Given the description of an element on the screen output the (x, y) to click on. 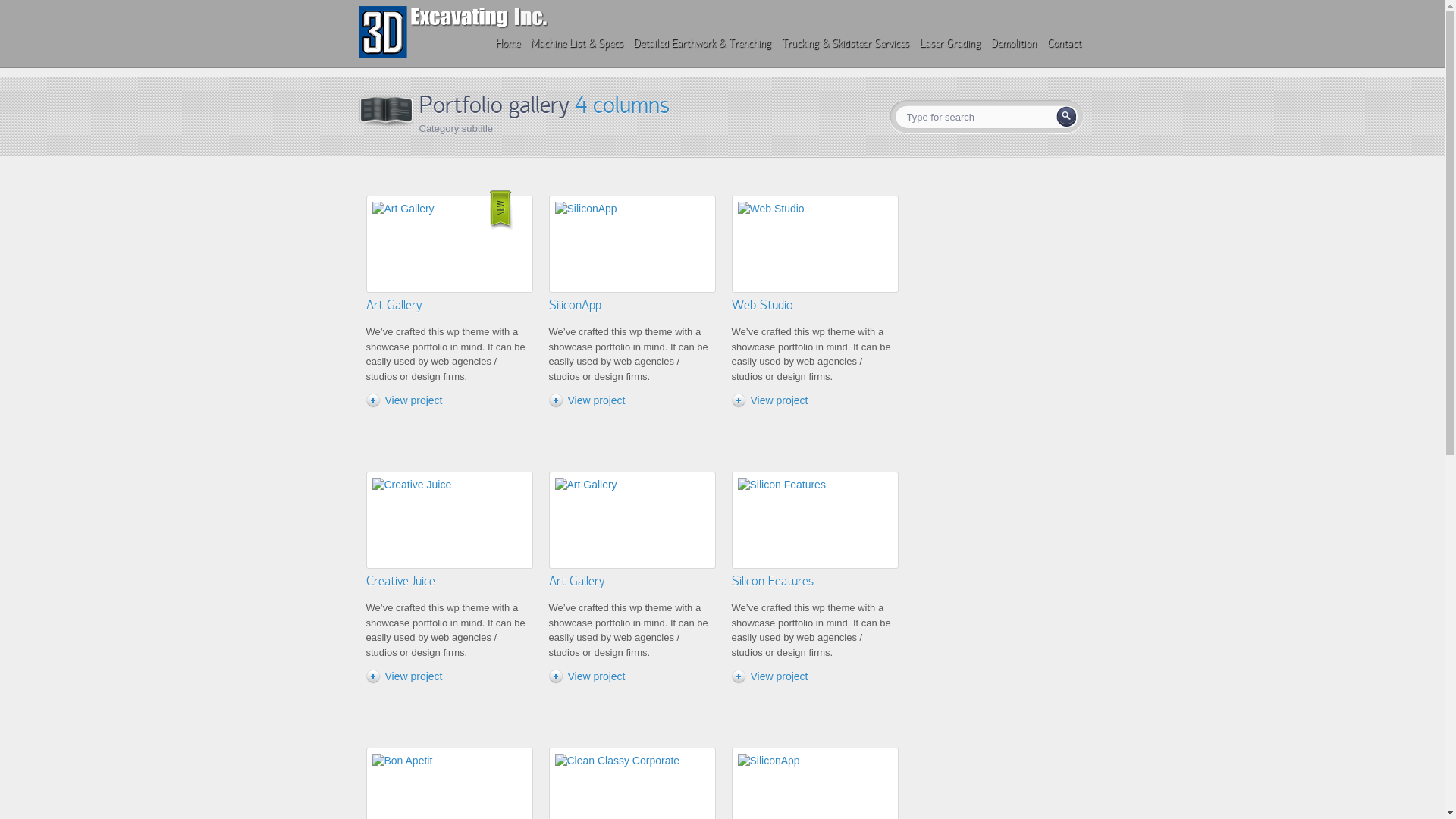
Home Element type: text (506, 44)
View project Element type: text (592, 676)
Contact Element type: text (1063, 44)
3D Excavating Inc. servicing the Saskatoon and area Element type: hover (452, 54)
View project Element type: text (592, 400)
View project Element type: text (408, 400)
Search Element type: text (1065, 117)
Art Gallery Element type: text (576, 580)
SiliconApp Element type: text (575, 304)
Machine List & Specs Element type: text (575, 44)
View project Element type: text (774, 676)
Creative Juice Element type: text (399, 580)
Silicon Features Element type: text (771, 580)
View project Element type: text (774, 400)
Web Studio Element type: text (761, 304)
Laser Grading Element type: text (949, 44)
View project Element type: text (408, 676)
Art Gallery Element type: text (392, 304)
Detailed Earthwork & Trenching Element type: text (701, 44)
Trucking & Skidsteer Services Element type: text (844, 44)
Demolition Element type: text (1013, 44)
